Given the description of an element on the screen output the (x, y) to click on. 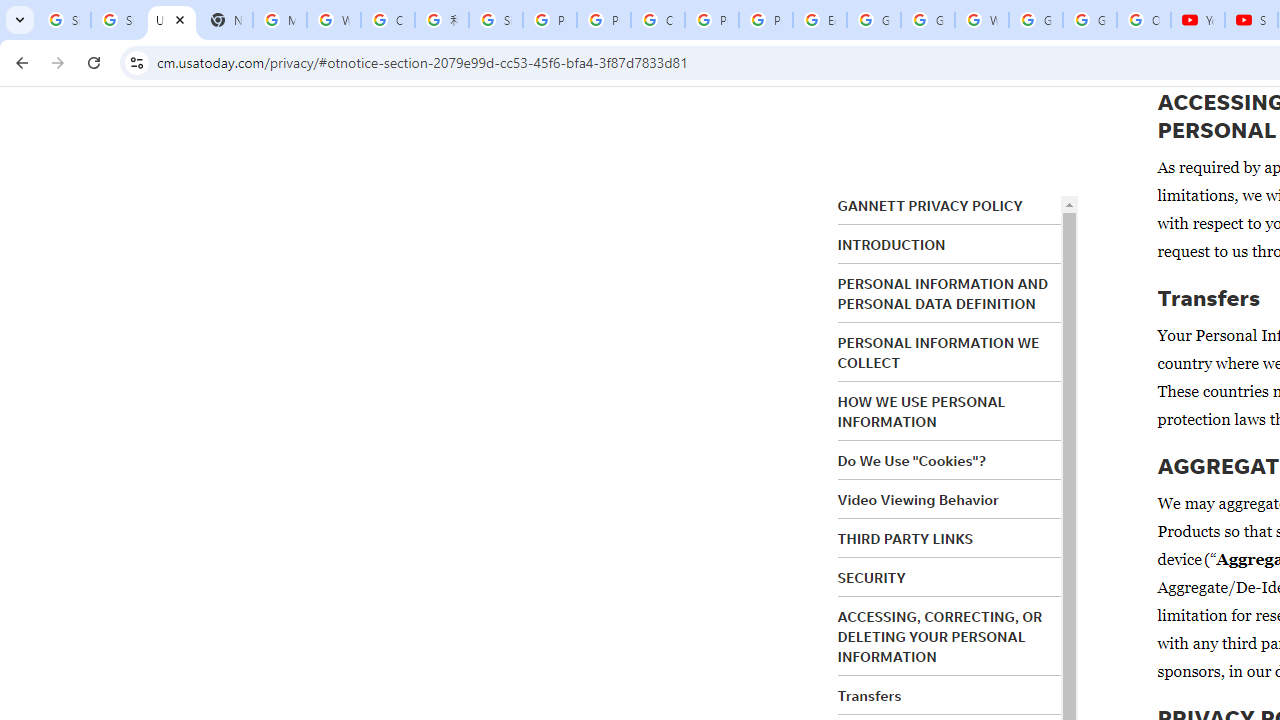
Video Viewing Behavior (917, 500)
New Tab (225, 20)
Who is my administrator? - Google Account Help (333, 20)
Sign in - Google Accounts (63, 20)
Sign in - Google Accounts (117, 20)
Welcome to My Activity (981, 20)
Google Slides: Sign-in (874, 20)
